Given the description of an element on the screen output the (x, y) to click on. 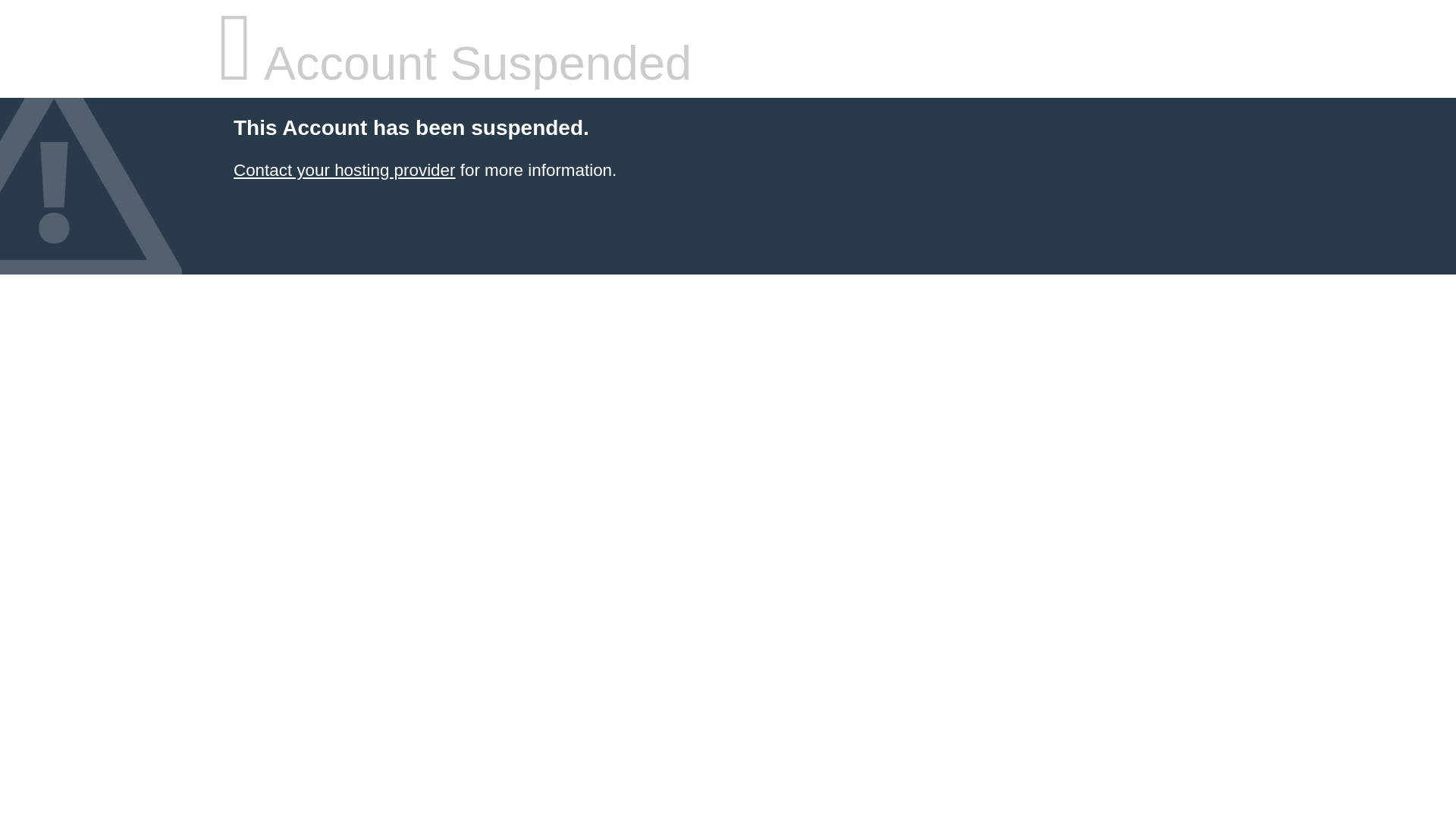
Contact your hosting provider (343, 169)
